Given the description of an element on the screen output the (x, y) to click on. 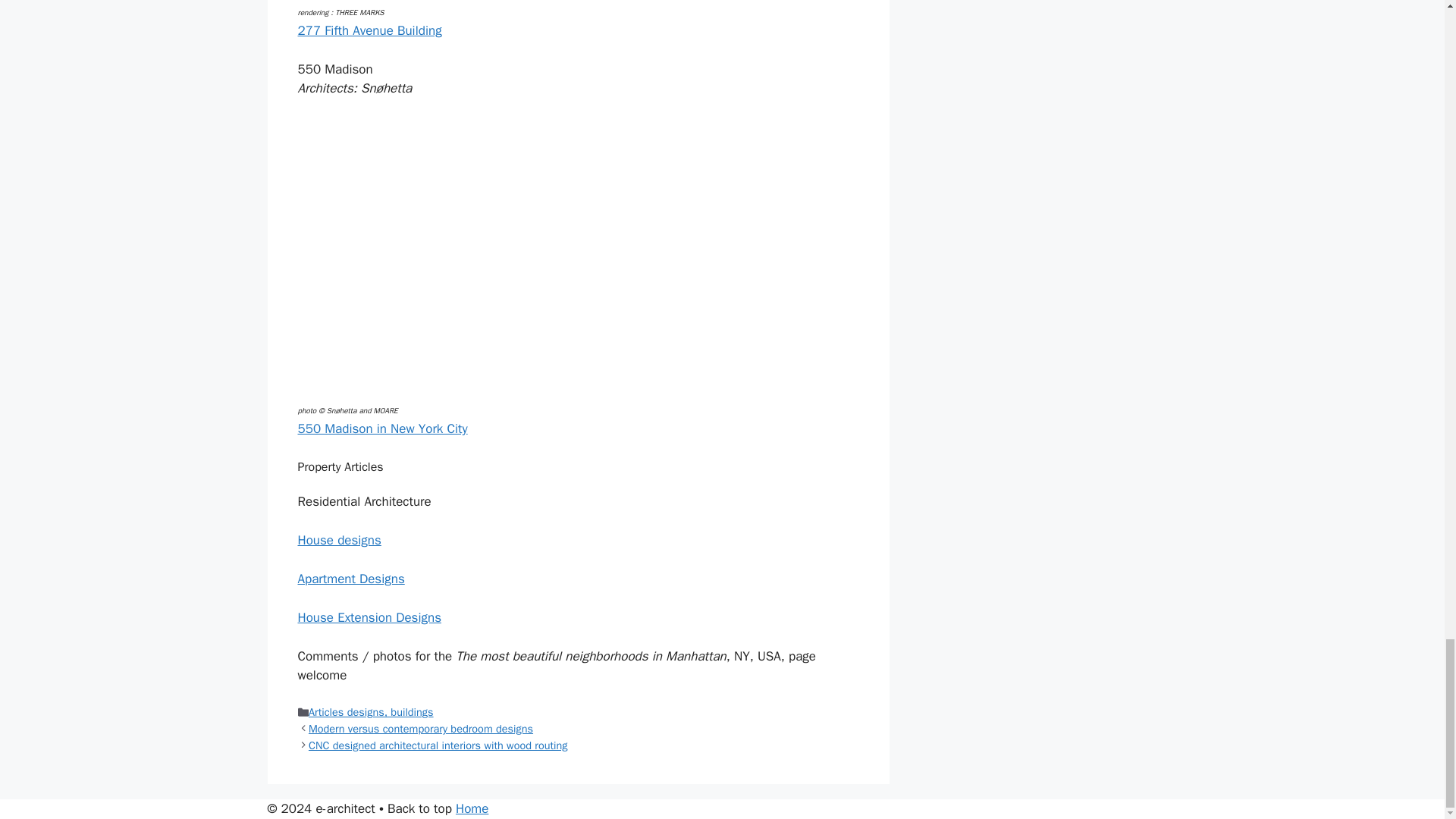
Apartment Designs (350, 578)
277 Fifth Avenue Building (369, 30)
550 Madison in New York City (382, 428)
Articles designs, buildings (370, 712)
CNC designed architectural interiors with wood routing (437, 745)
House Extension Designs (369, 617)
House designs (338, 539)
Modern versus contemporary bedroom designs (420, 728)
